Given the description of an element on the screen output the (x, y) to click on. 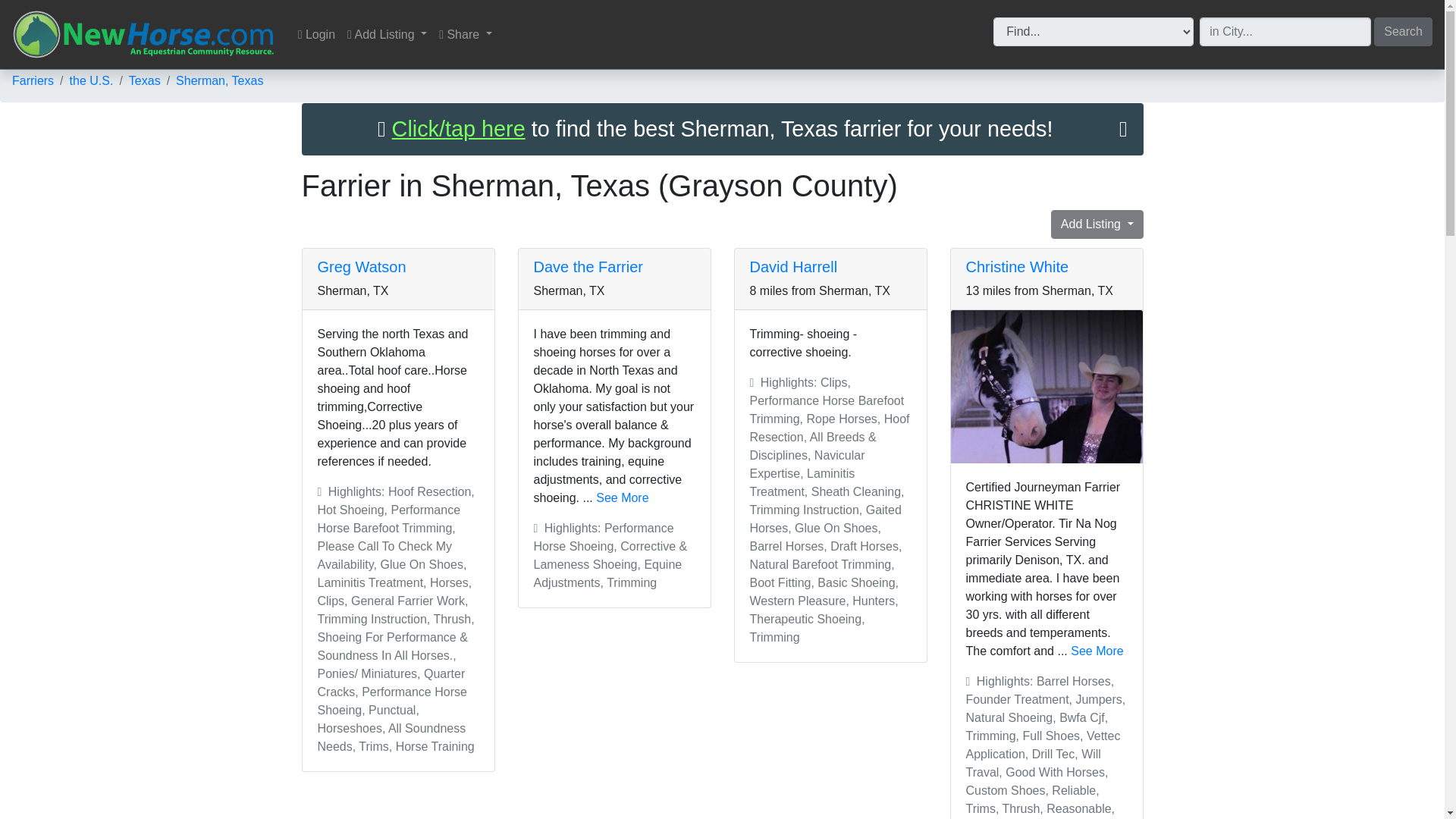
Search (1403, 30)
Share (464, 34)
Add Listing (1096, 224)
Farriers (32, 80)
the U.S. (91, 80)
Add Listing (386, 34)
Texas (144, 80)
Sherman, Texas (219, 80)
Login (316, 34)
